Given the description of an element on the screen output the (x, y) to click on. 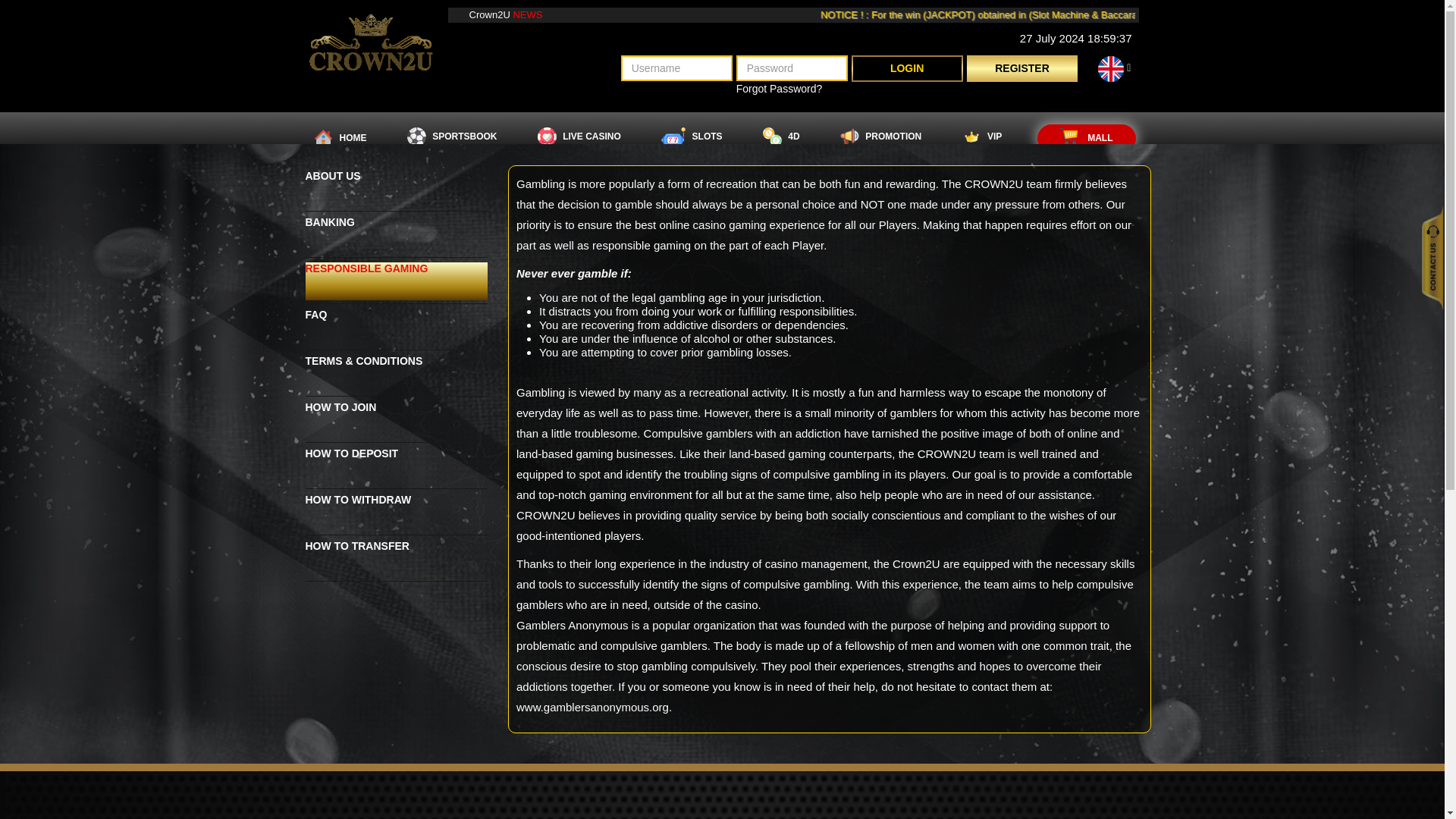
LOGIN (906, 67)
SLOTS (691, 136)
LIVE CASINO (578, 136)
REGISTER (1022, 67)
HOME (340, 137)
SPORTSBOOK (451, 136)
Forgot Password? (779, 87)
